Given the description of an element on the screen output the (x, y) to click on. 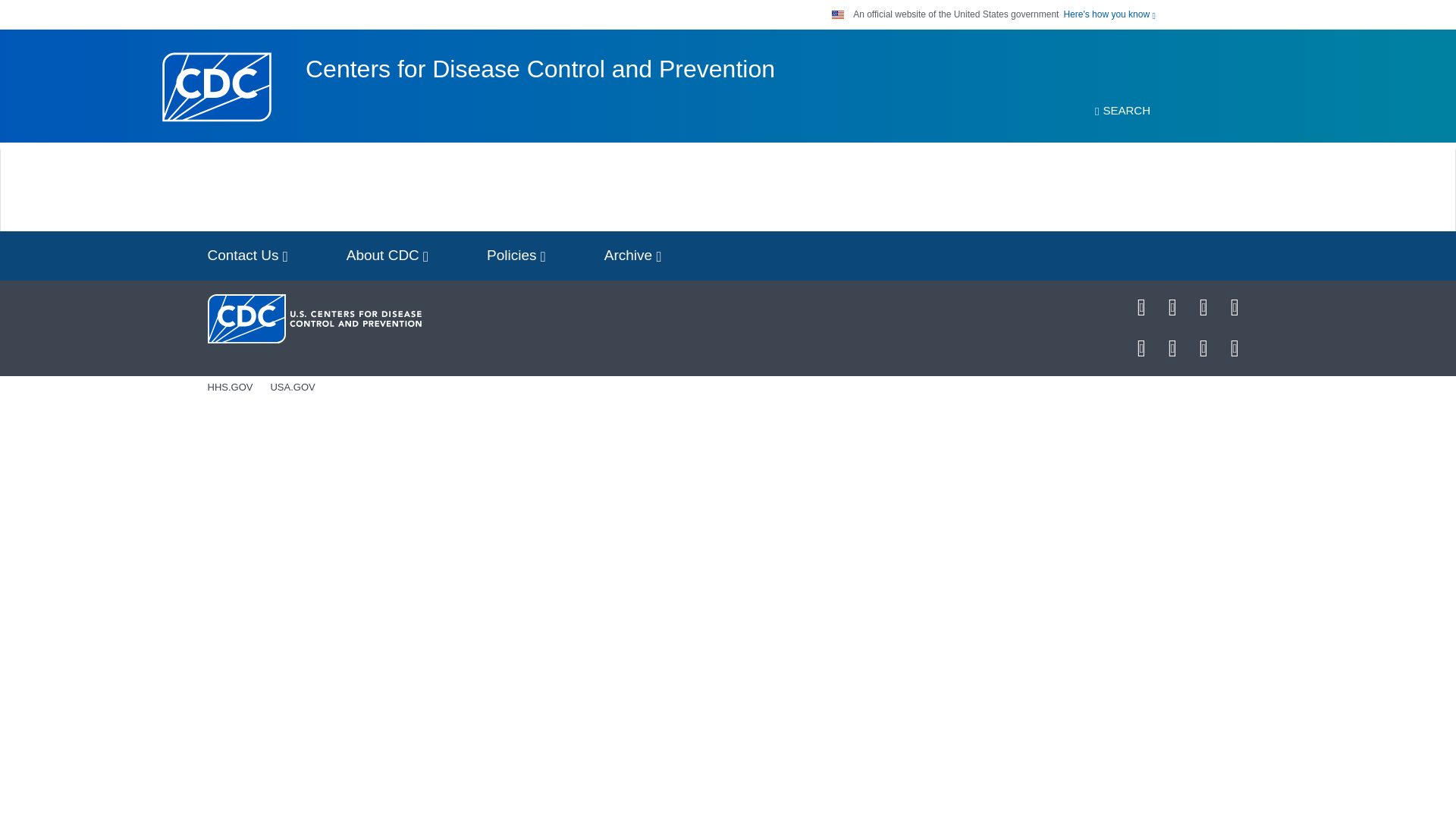
Here's how you know (1108, 14)
Contact Us (247, 255)
About CDC (387, 255)
Archive (633, 255)
Centers for Disease Control and Prevention (539, 68)
Policies (516, 255)
SEARCH (1122, 110)
